Given the description of an element on the screen output the (x, y) to click on. 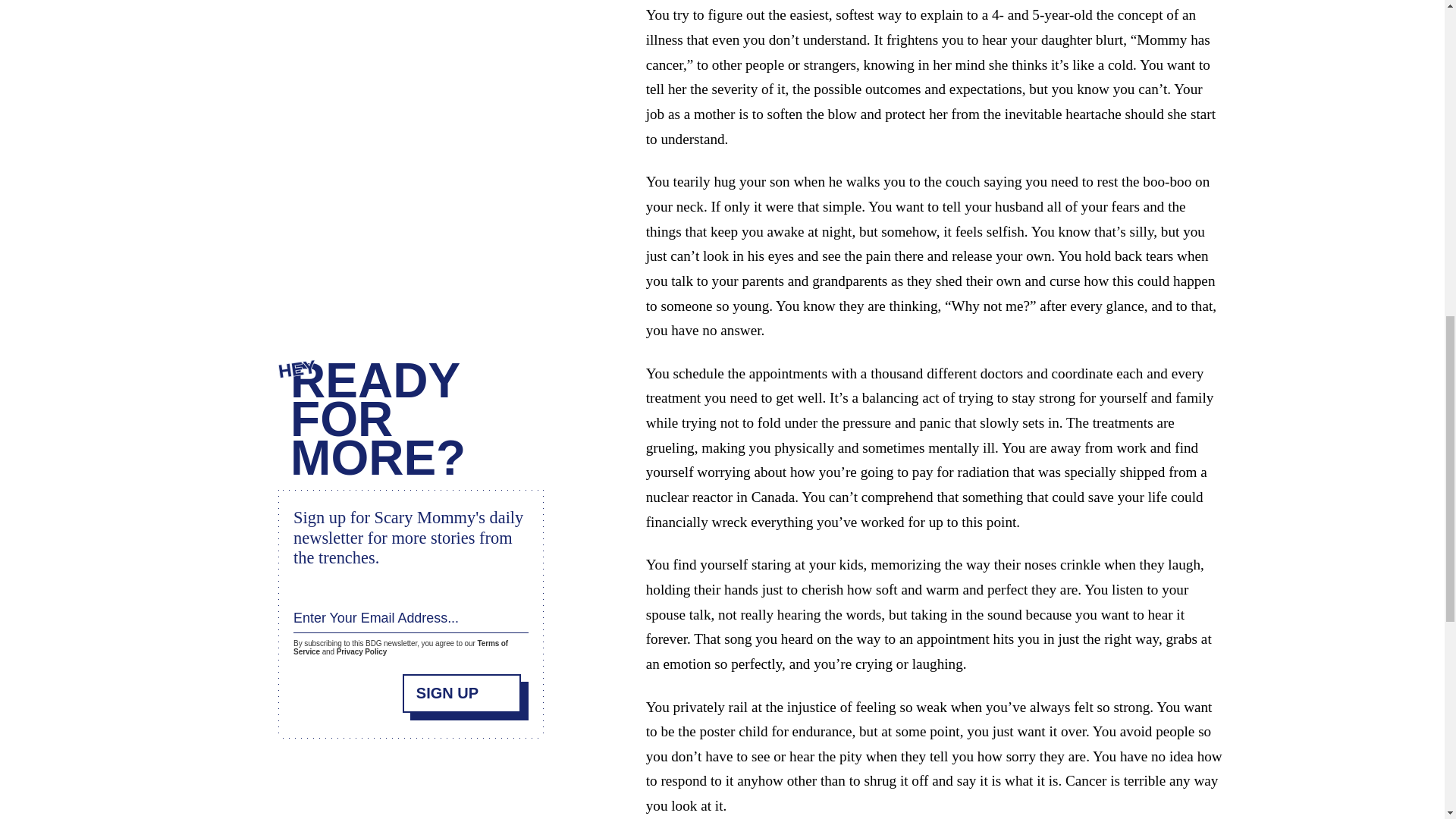
Terms of Service (401, 639)
Privacy Policy (361, 645)
SIGN UP (462, 684)
